Given the description of an element on the screen output the (x, y) to click on. 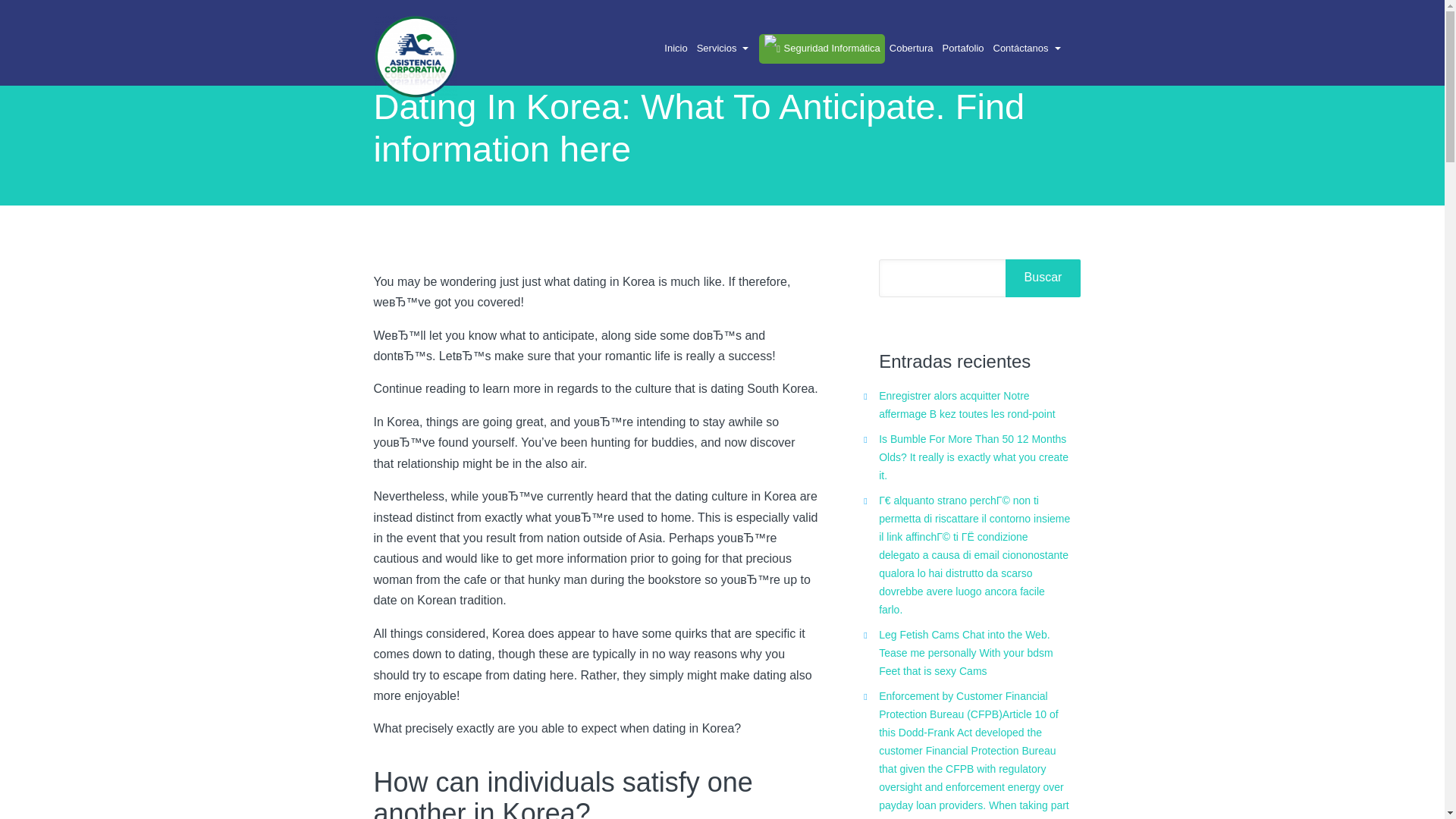
Inicio (675, 48)
Buscar (1043, 278)
Portafolio (962, 48)
Cobertura (911, 48)
Servicios (726, 48)
